Given the description of an element on the screen output the (x, y) to click on. 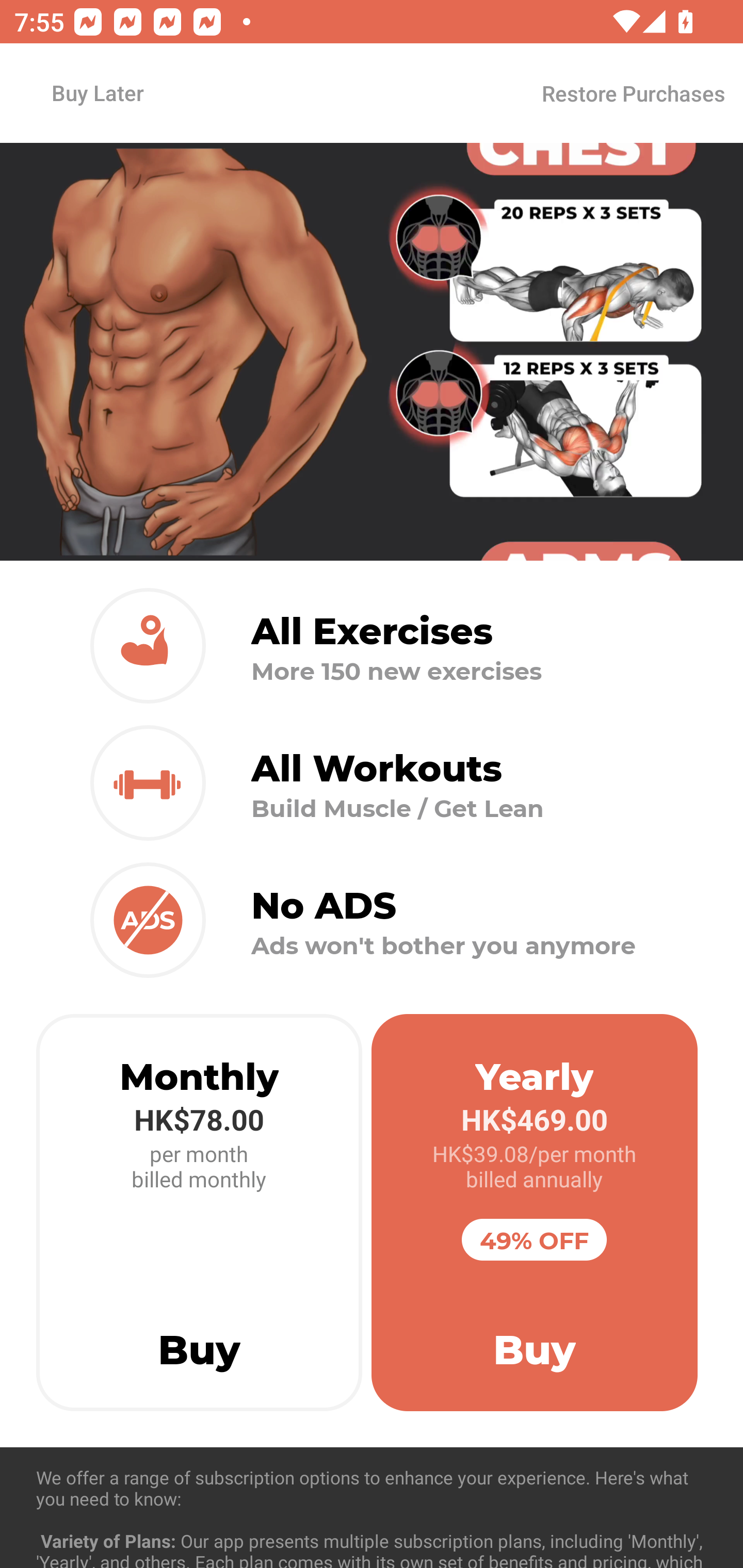
Restore Purchases (632, 92)
Buy Later (96, 92)
Monthly HK$78.00 per month
billed monthly Buy (199, 1212)
